Given the description of an element on the screen output the (x, y) to click on. 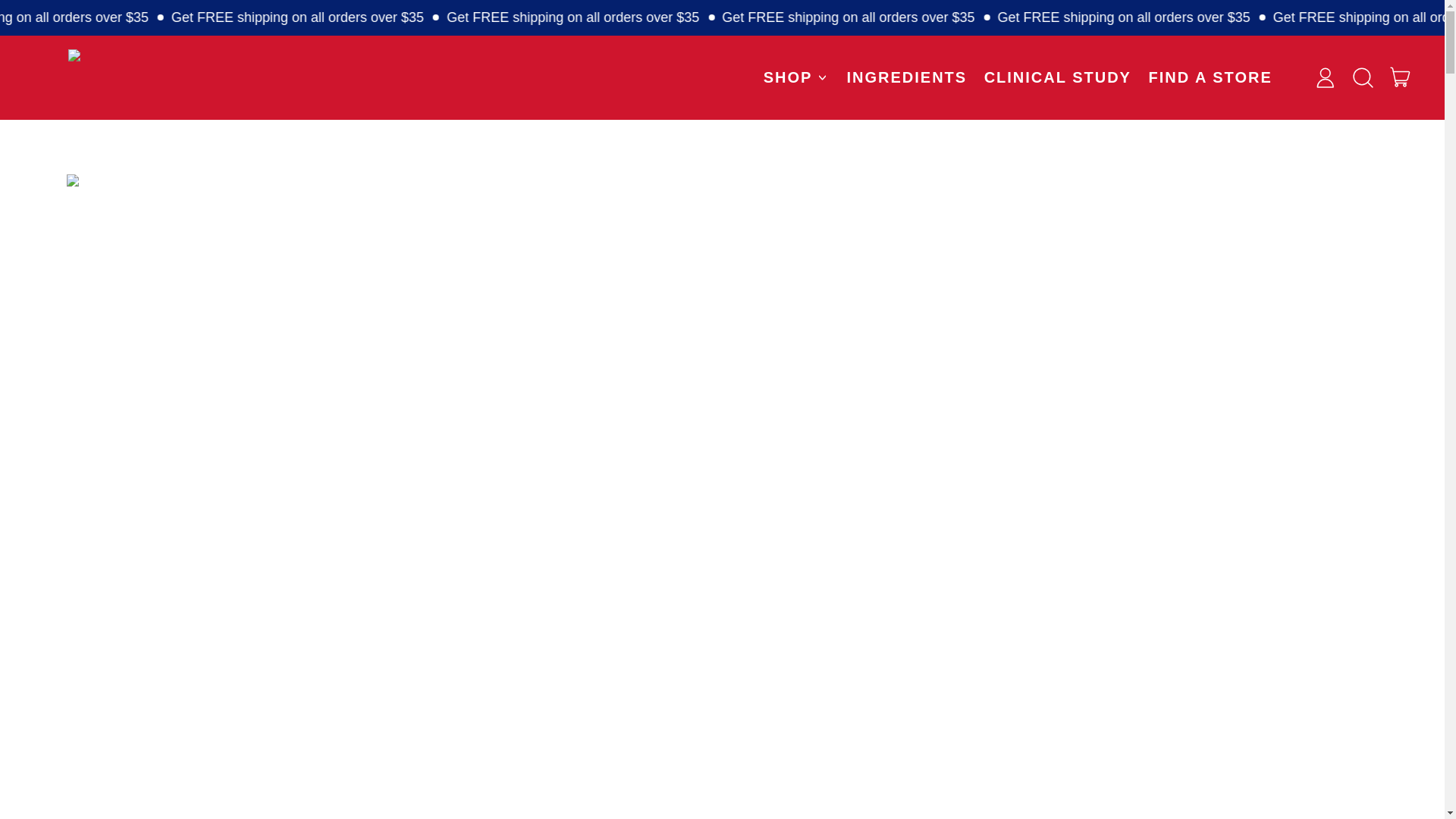
FIND A STORE (1210, 77)
Log in (1324, 76)
Search our site (1362, 76)
CLINICAL STUDY (1057, 77)
SHOP (1400, 77)
INGREDIENTS (796, 77)
